Given the description of an element on the screen output the (x, y) to click on. 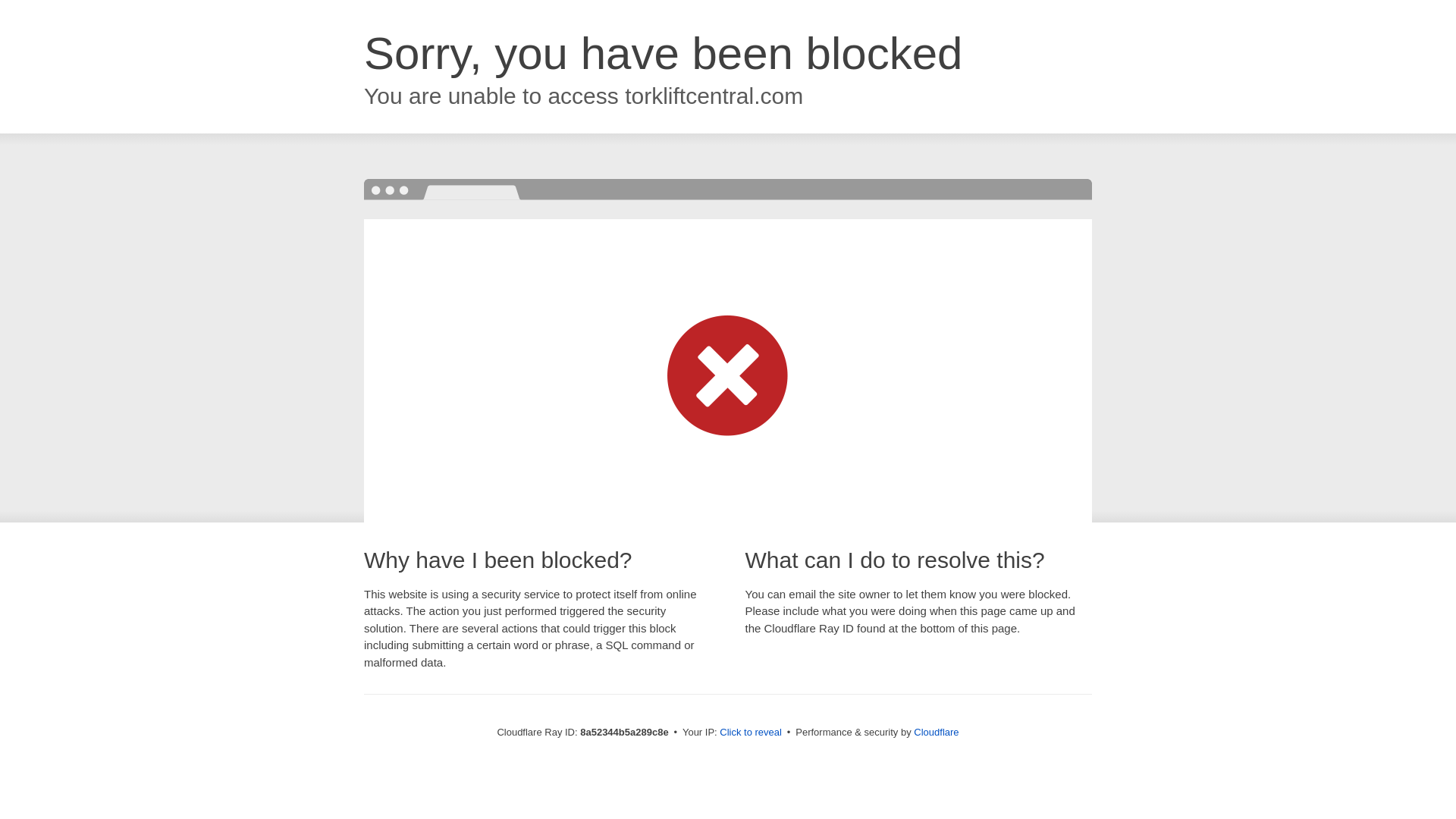
Cloudflare (936, 731)
Click to reveal (750, 732)
